Given the description of an element on the screen output the (x, y) to click on. 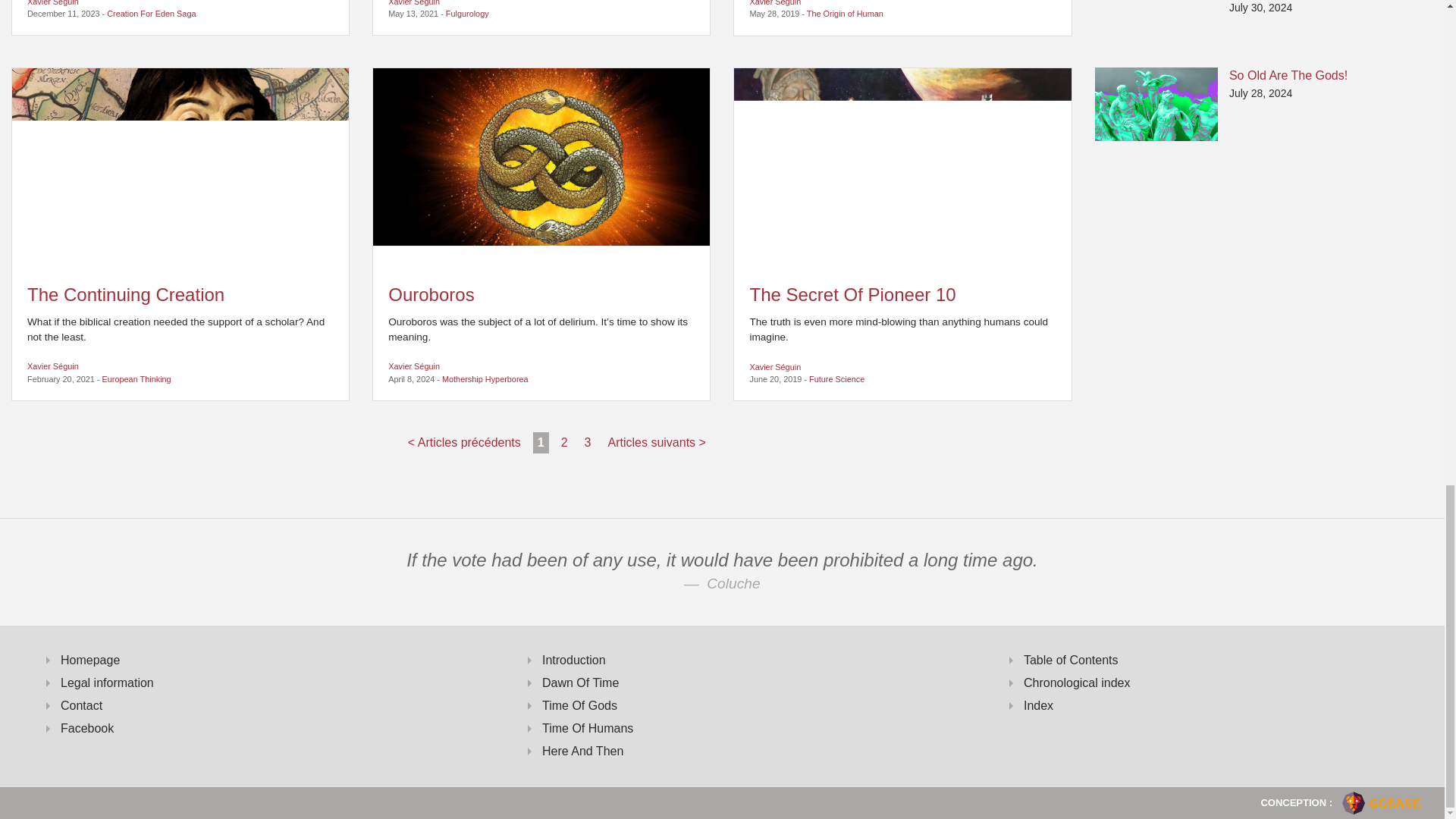
The Continuing Creation (180, 167)
Ouroboros (541, 167)
The Secret Of Pioneer 10 (901, 167)
